Given the description of an element on the screen output the (x, y) to click on. 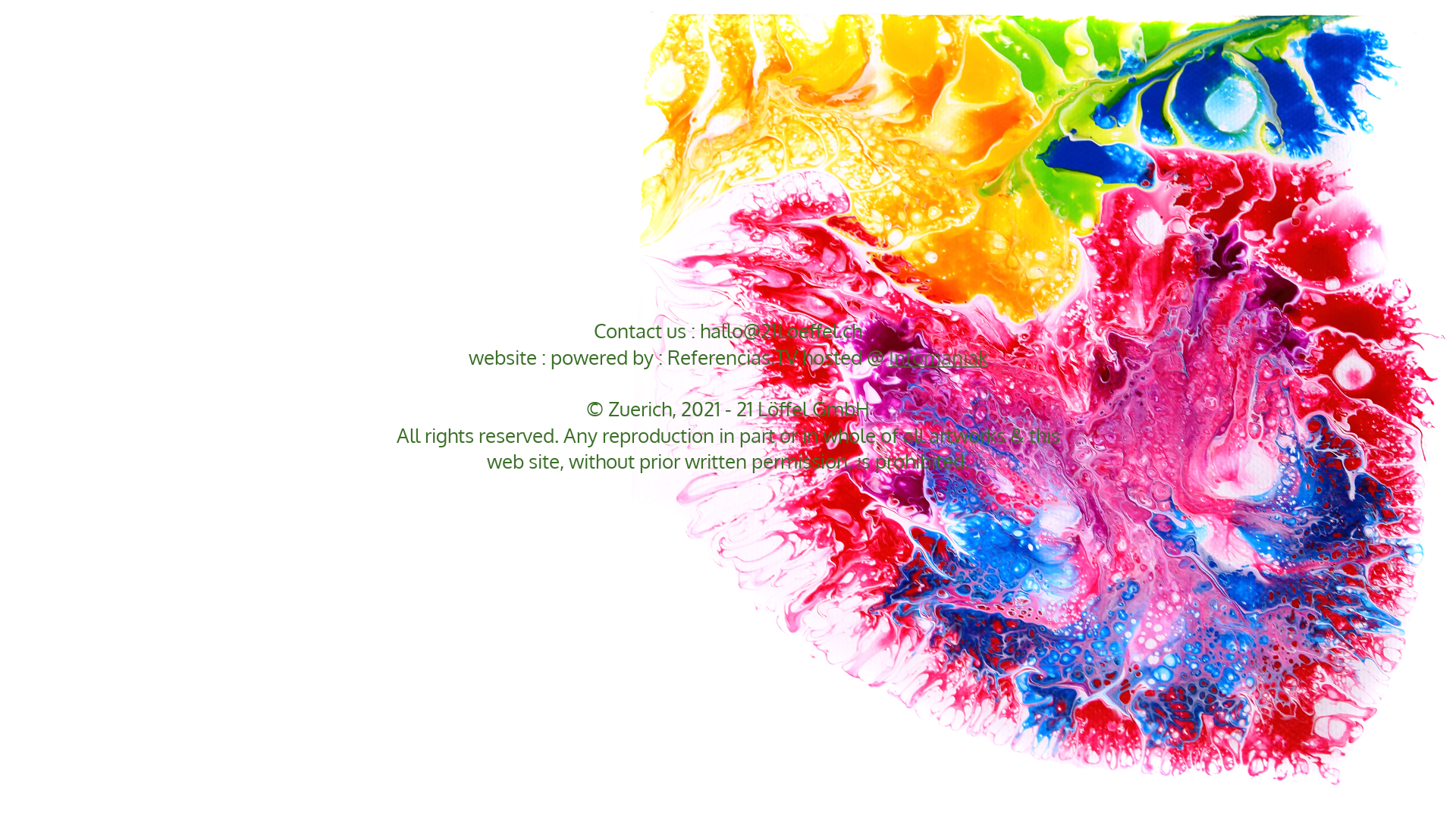
Infomaniak Element type: text (938, 356)
